Given the description of an element on the screen output the (x, y) to click on. 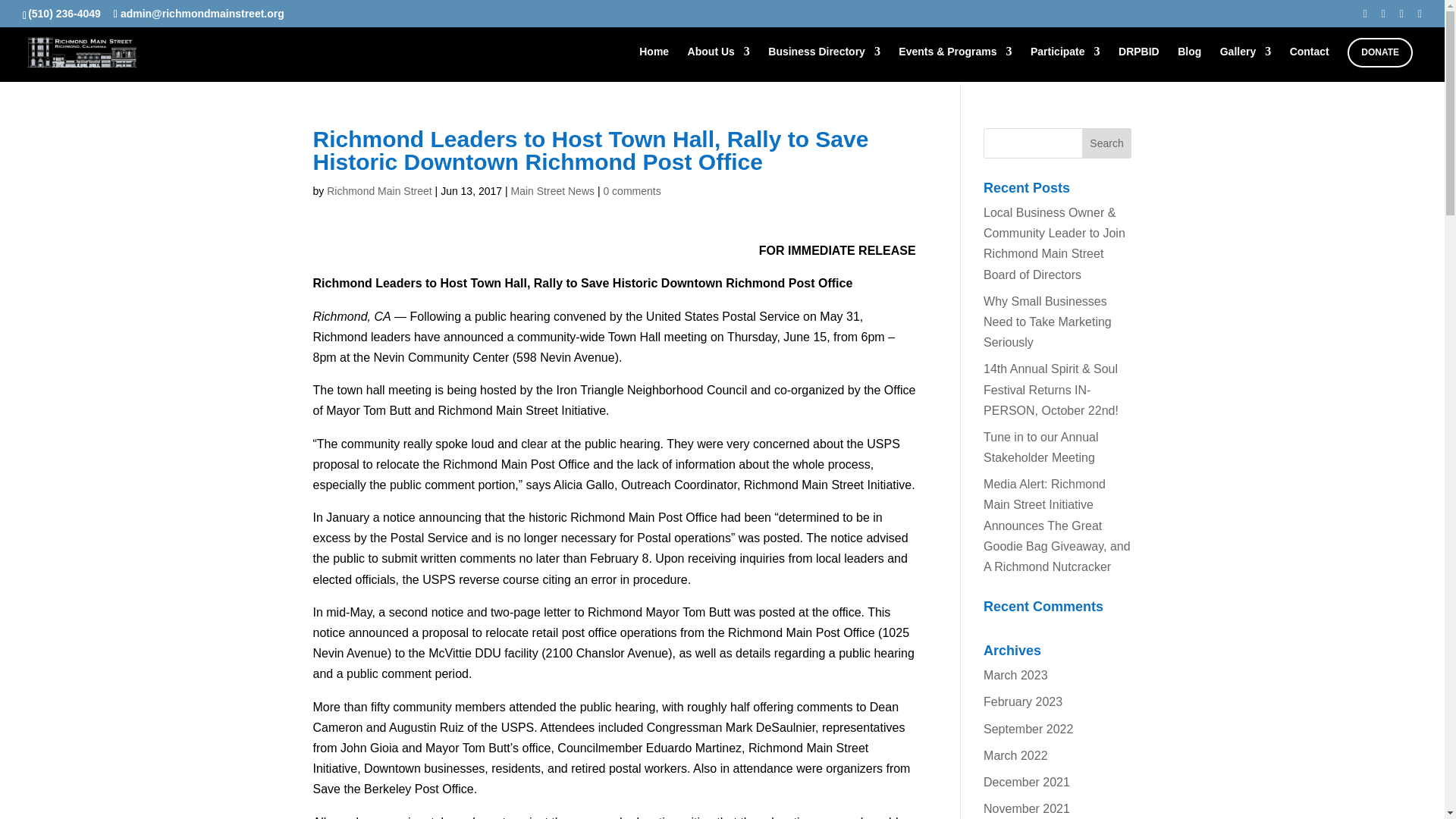
DRPBID (1138, 63)
Business Directory (824, 63)
About Us (718, 63)
Participate (1065, 63)
Posts by Richmond Main Street (379, 191)
Search (1106, 142)
